Given the description of an element on the screen output the (x, y) to click on. 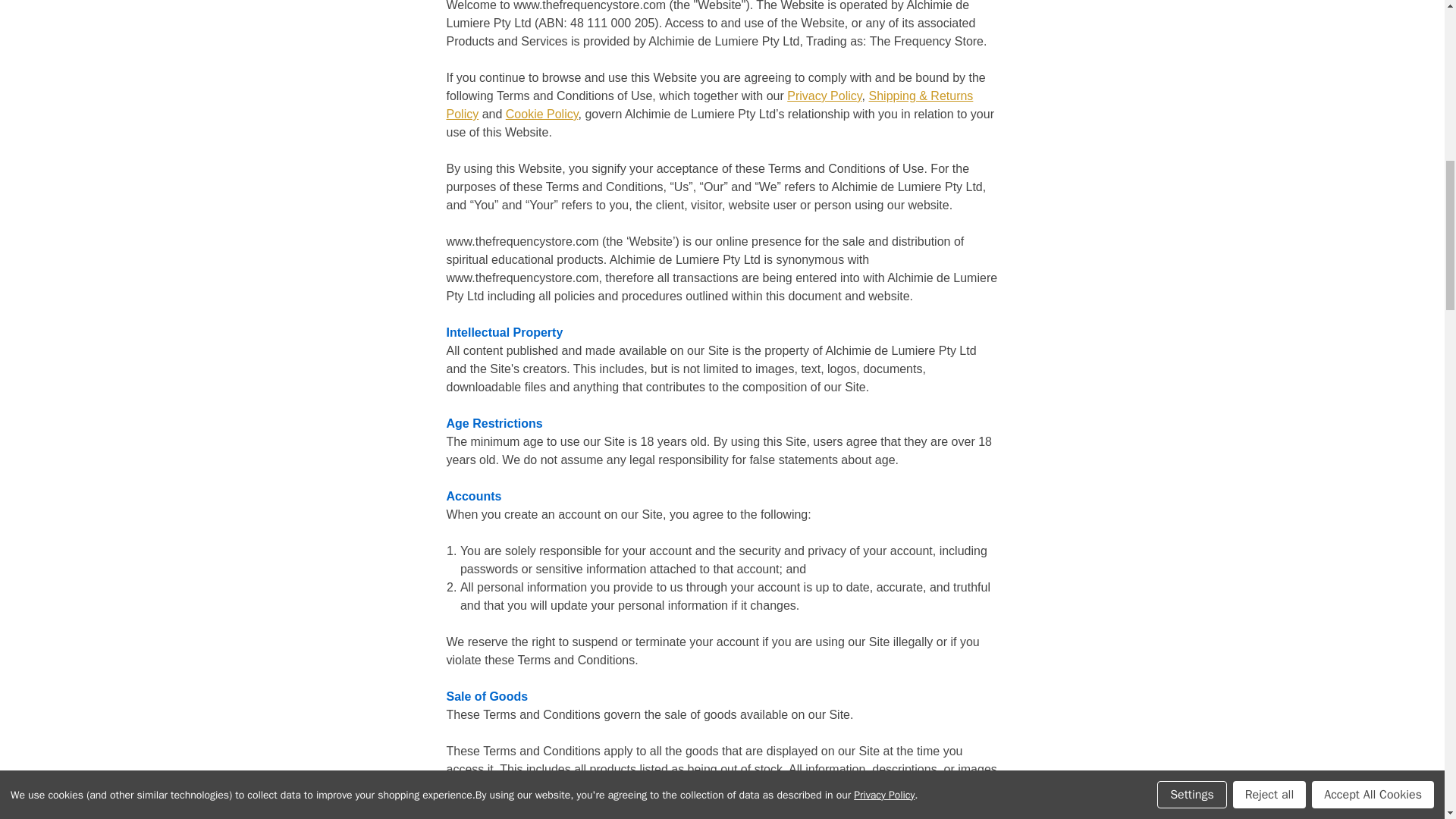
Cookie Policy (541, 113)
Privacy Policy (824, 95)
